Given the description of an element on the screen output the (x, y) to click on. 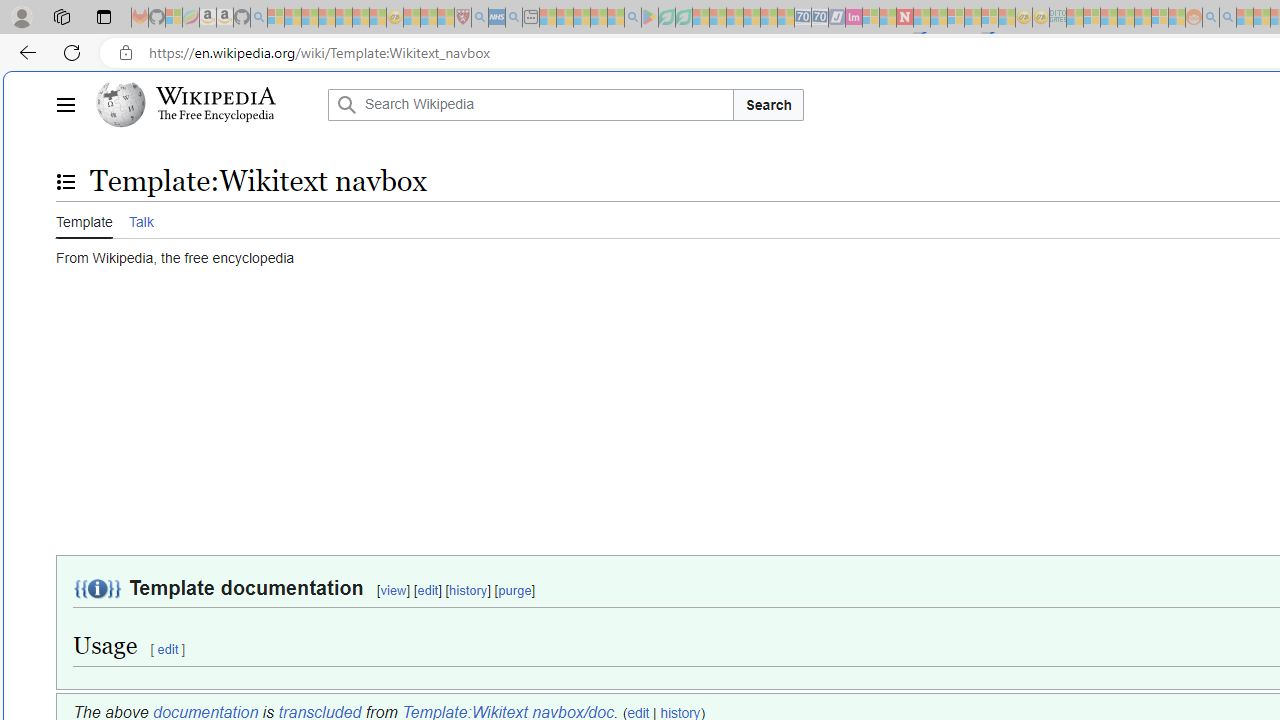
Wikipedia The Free Encyclopedia (206, 104)
view (393, 591)
Talk (140, 219)
The Free Encyclopedia (216, 116)
Template (84, 219)
